Given the description of an element on the screen output the (x, y) to click on. 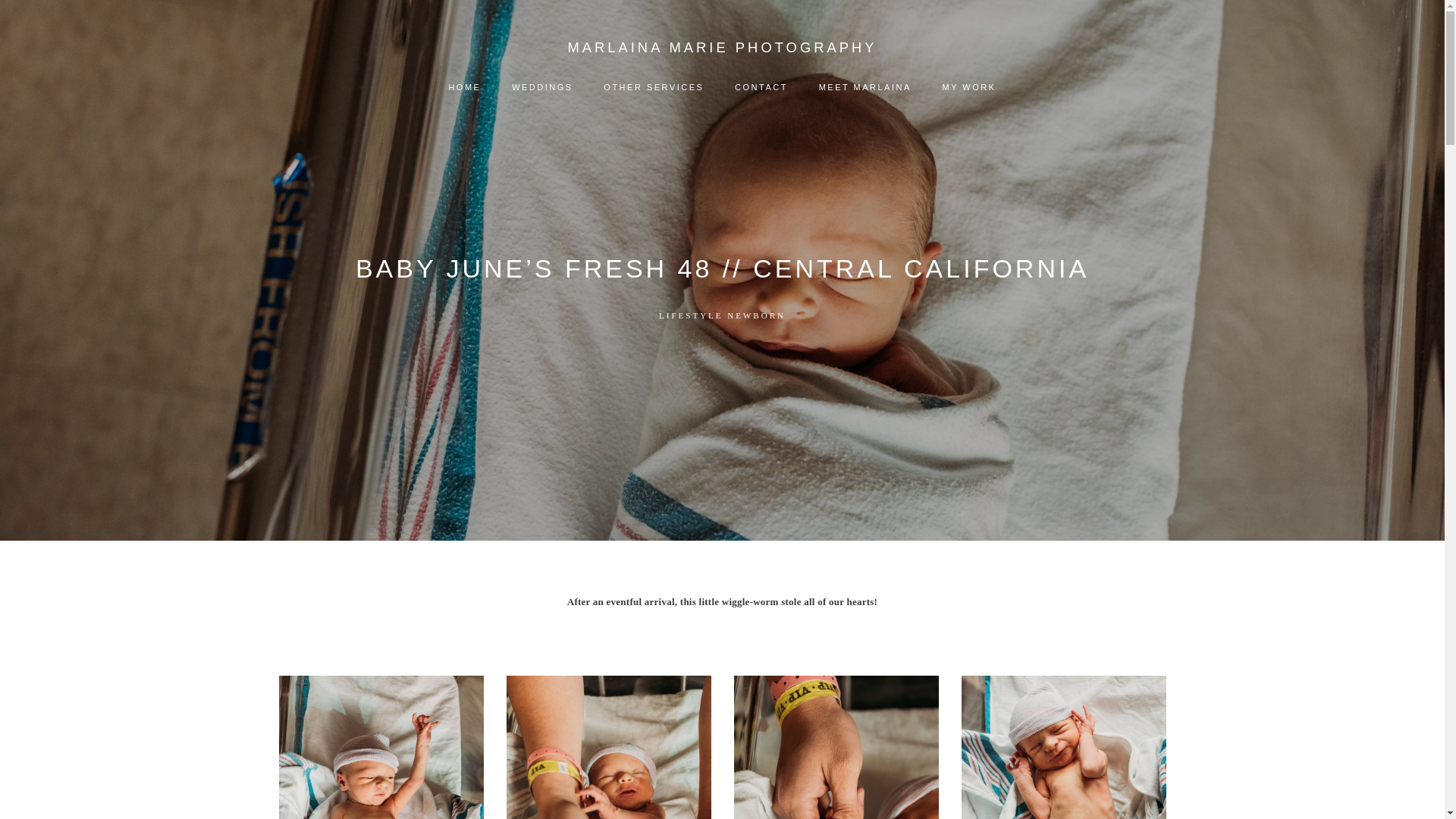
CONTACT (761, 88)
MY WORK (968, 88)
MEET MARLAINA (864, 88)
OTHER SERVICES (654, 88)
WEDDINGS (542, 88)
LIFESTYLE NEWBORN (722, 315)
HOME (464, 88)
MARLAINA MARIE PHOTOGRAPHY (721, 47)
